Given the description of an element on the screen output the (x, y) to click on. 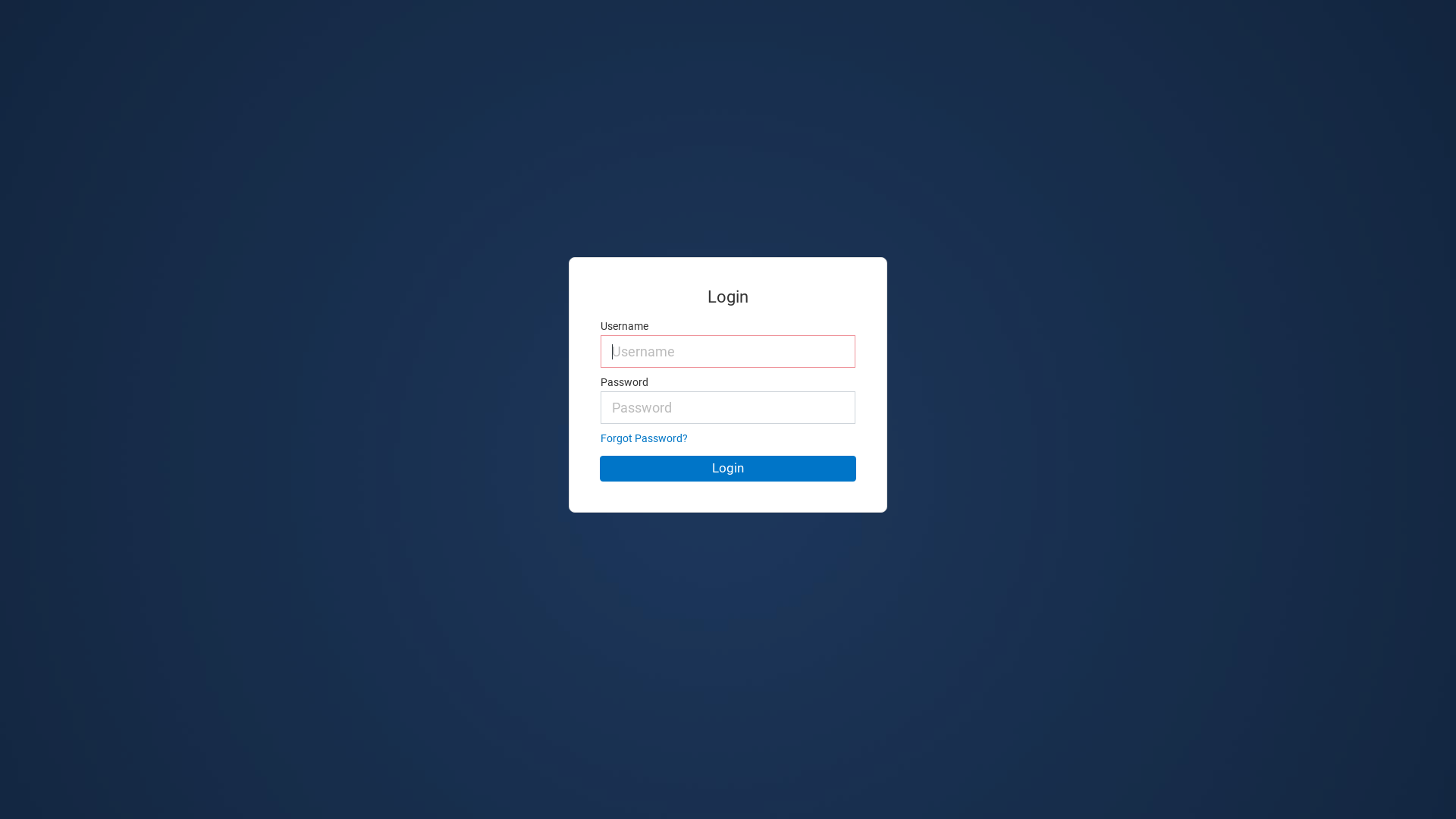
Forgot Password? Element type: text (643, 438)
Login Element type: text (727, 468)
